Given the description of an element on the screen output the (x, y) to click on. 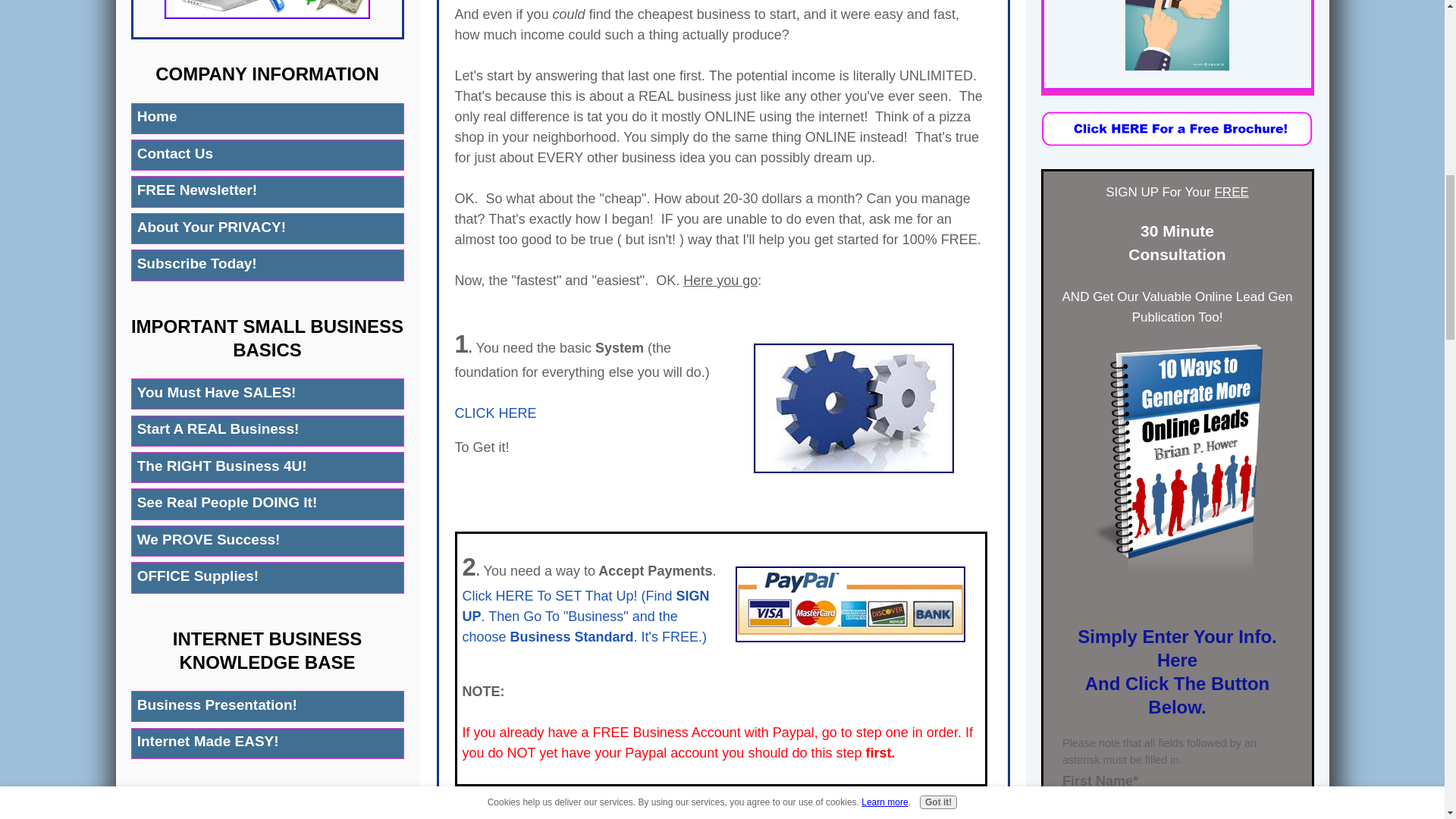
We PROVE Success! (267, 540)
See Real People DOING It! (267, 503)
Go to makemoneynow (266, 13)
CLICK HERE (495, 412)
You Must Have SALES! (267, 393)
Business Presentation! (267, 706)
Internet Made EASY! (267, 743)
OFFICE Supplies! (267, 576)
Contact Us (267, 154)
FREE Newsletter! (267, 191)
